Given the description of an element on the screen output the (x, y) to click on. 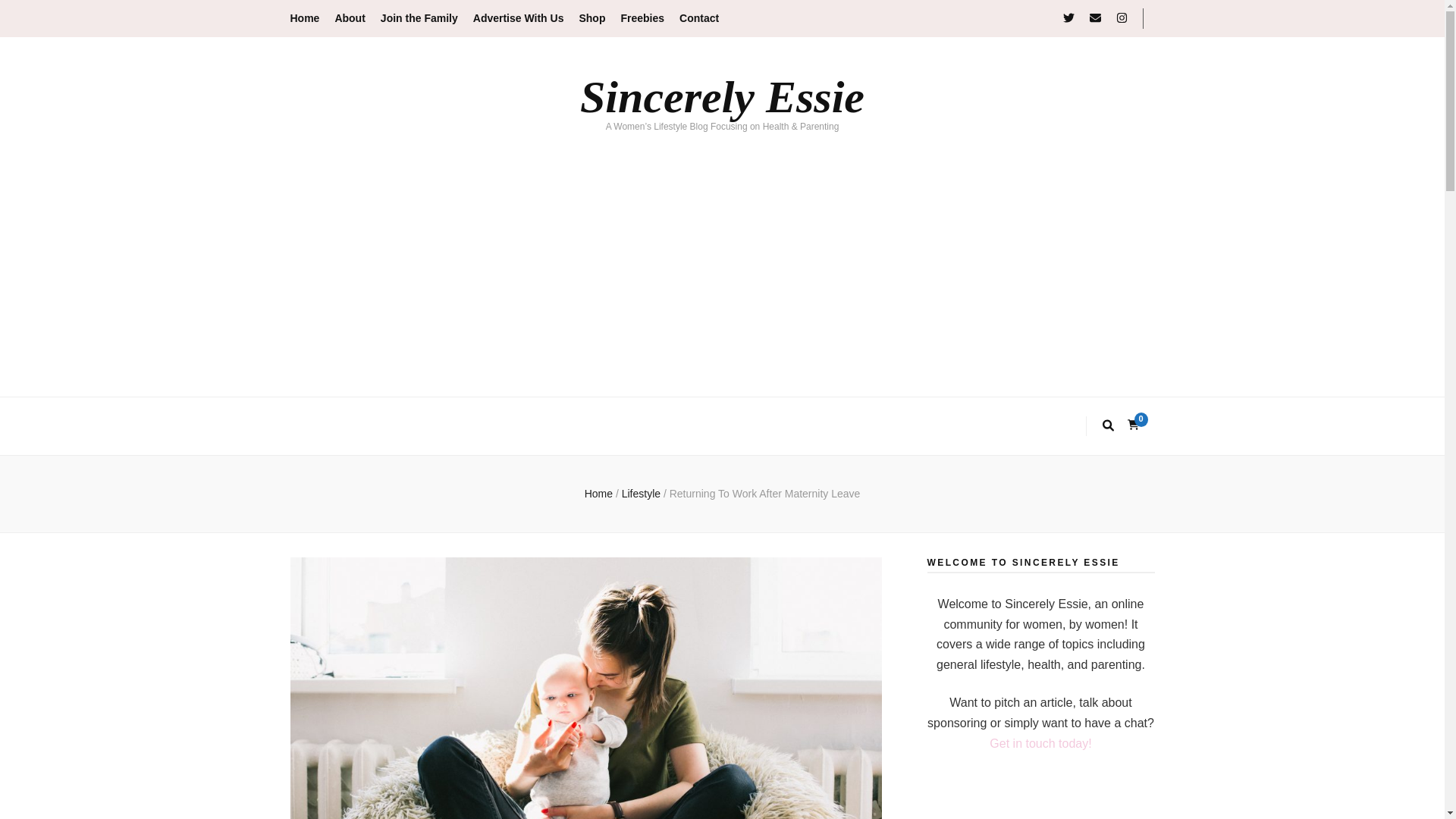
View your shopping cart (1132, 425)
Advertise With Us (518, 18)
Contact (699, 18)
Lifestyle (642, 493)
0 (1132, 425)
About (349, 18)
Freebies (641, 18)
Join the Family (419, 18)
Home (303, 18)
Sincerely Essie (721, 97)
Returning To Work After Maternity Leave (764, 493)
Home (598, 493)
Shop (591, 18)
